Given the description of an element on the screen output the (x, y) to click on. 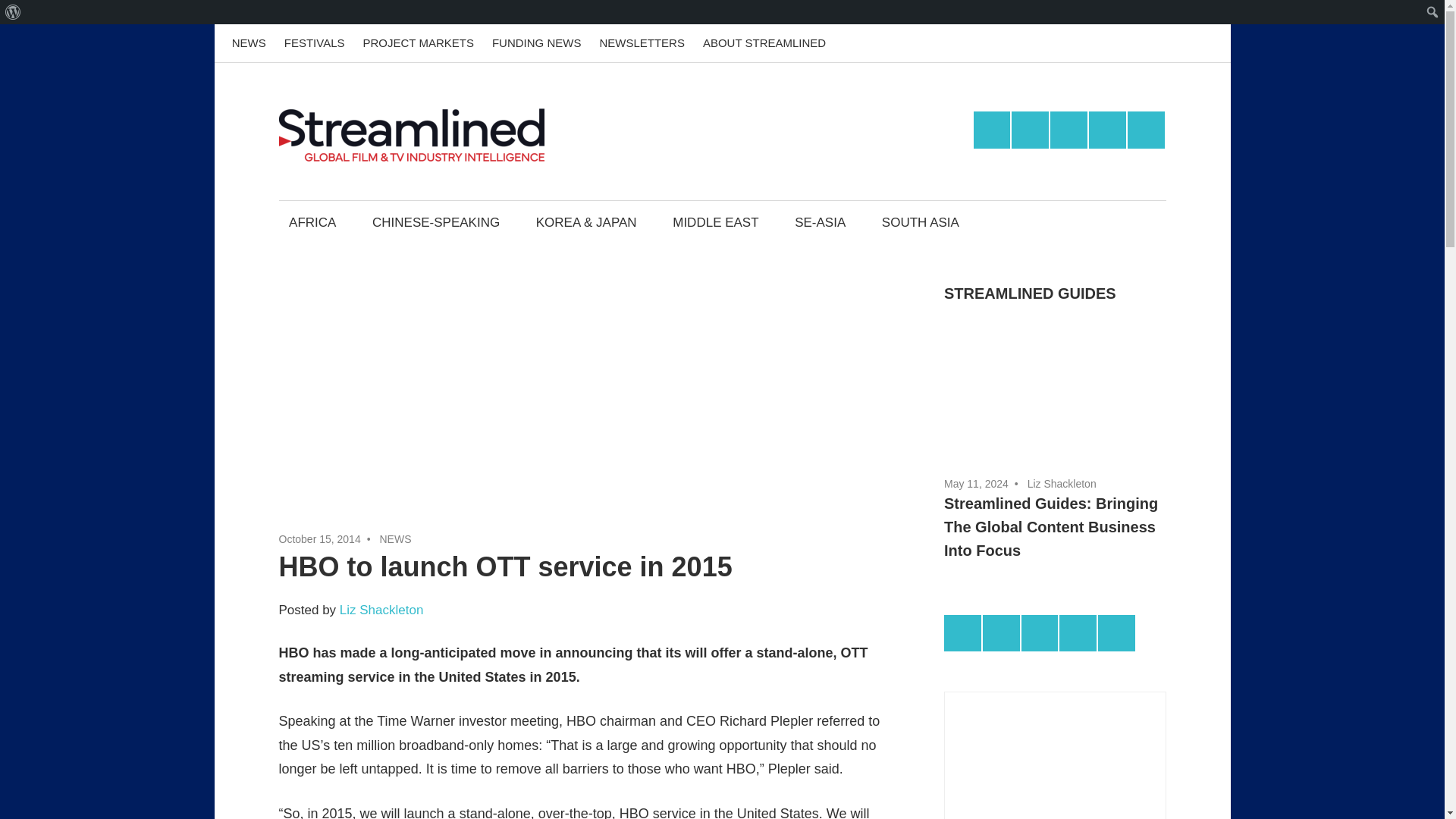
Search (15, 12)
View all posts by Liz Shackleton (381, 609)
CHINESE-SPEAKING (435, 221)
FUNDING NEWS (537, 43)
2:35 pm (320, 539)
Instagram (1068, 129)
SOUTH ASIA (919, 221)
View all posts by Liz Shackleton (1061, 483)
Twitter (1107, 129)
ABOUT STREAMLINED (764, 43)
